Given the description of an element on the screen output the (x, y) to click on. 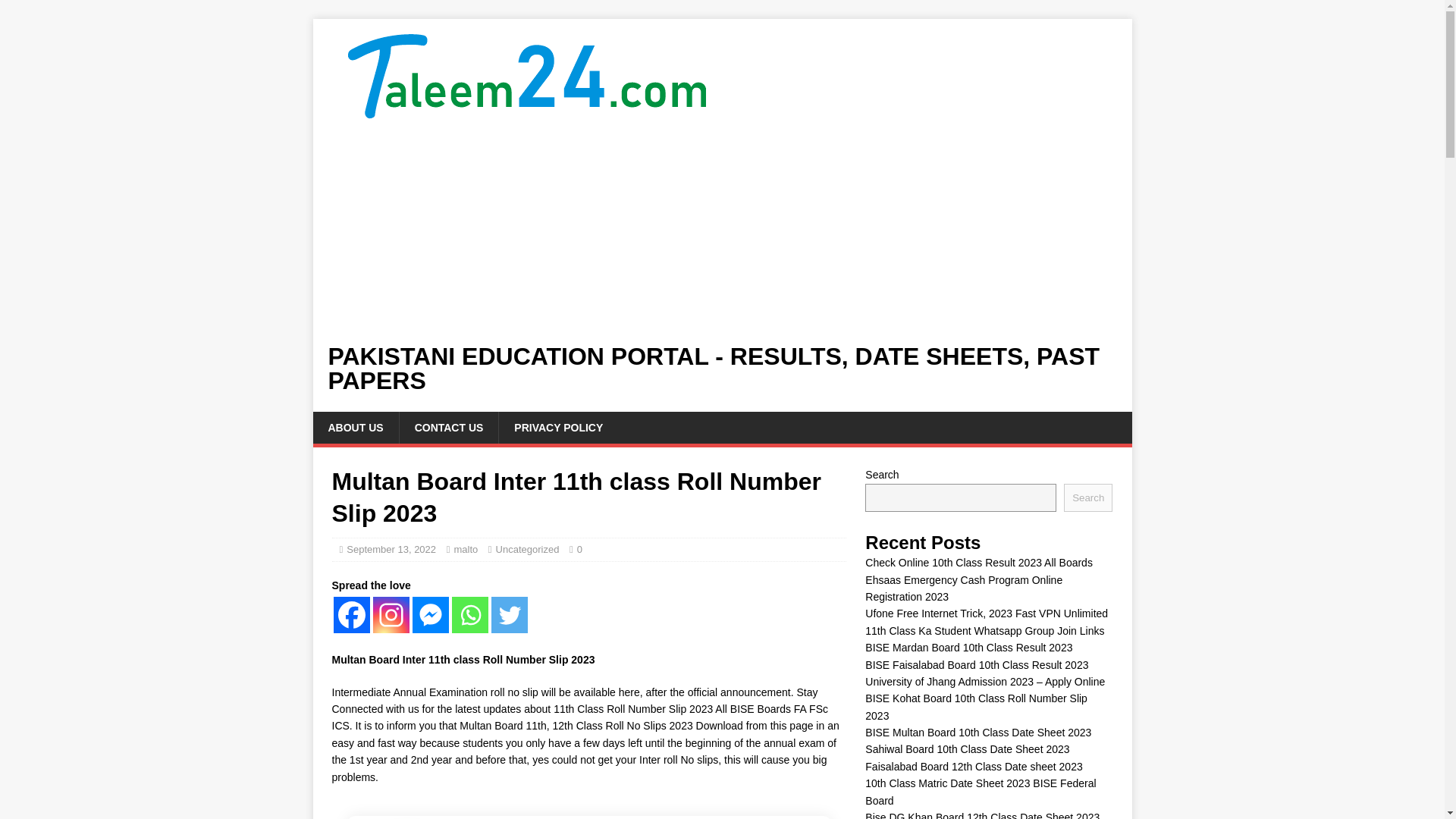
Facebook (351, 615)
CONTACT US (448, 427)
malto (464, 549)
ABOUT US (355, 427)
Whatsapp (469, 615)
September 13, 2022 (390, 549)
Twitter (509, 615)
PRIVACY POLICY (557, 427)
Instagram (390, 615)
